Given the description of an element on the screen output the (x, y) to click on. 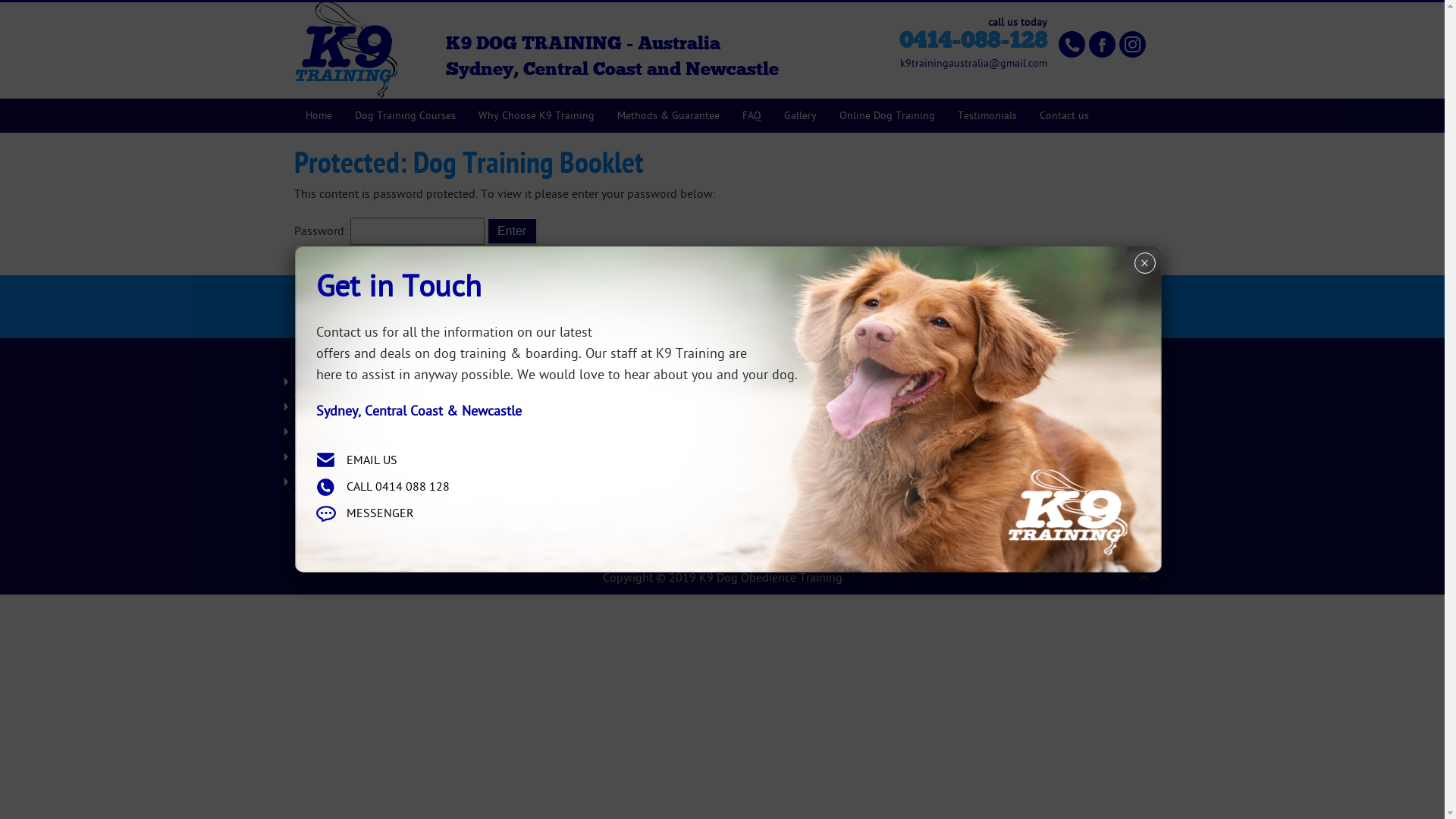
Articles Element type: text (611, 507)
Dog Training Courses Element type: text (404, 115)
EMAIL US Element type: text (370, 460)
Contact us Element type: text (1064, 115)
k9trainingaustralia@gmail.com Element type: text (832, 522)
Why Choose K9 Training Element type: text (536, 115)
FAQ Element type: text (751, 115)
0414-088-128 Element type: text (816, 485)
Home Element type: text (318, 115)
Gallery Element type: text (611, 482)
FAQ Element type: text (391, 407)
Testimonials Element type: text (391, 457)
Sitemap Element type: text (391, 482)
k9trainingaustralia@gmail.com Element type: text (972, 62)
Home Element type: text (391, 382)
CALL 0414 088 128 Element type: text (396, 486)
Online Dog Training Element type: text (887, 115)
MESSENGER Element type: text (379, 513)
Stop Pulling & Jumping Course Element type: text (611, 457)
Methods & Guarantee Element type: text (667, 115)
Contact Us Element type: text (1090, 307)
Dog Training Methods & Guarantee Element type: text (611, 382)
Enter Element type: text (511, 231)
Group Dog Training lessons Element type: text (611, 407)
Testimonials Element type: text (987, 115)
Gallery Element type: text (799, 115)
Resources Element type: text (391, 432)
0414-088-128 Element type: text (973, 41)
Dog Training Private lessons Element type: text (611, 432)
